Given the description of an element on the screen output the (x, y) to click on. 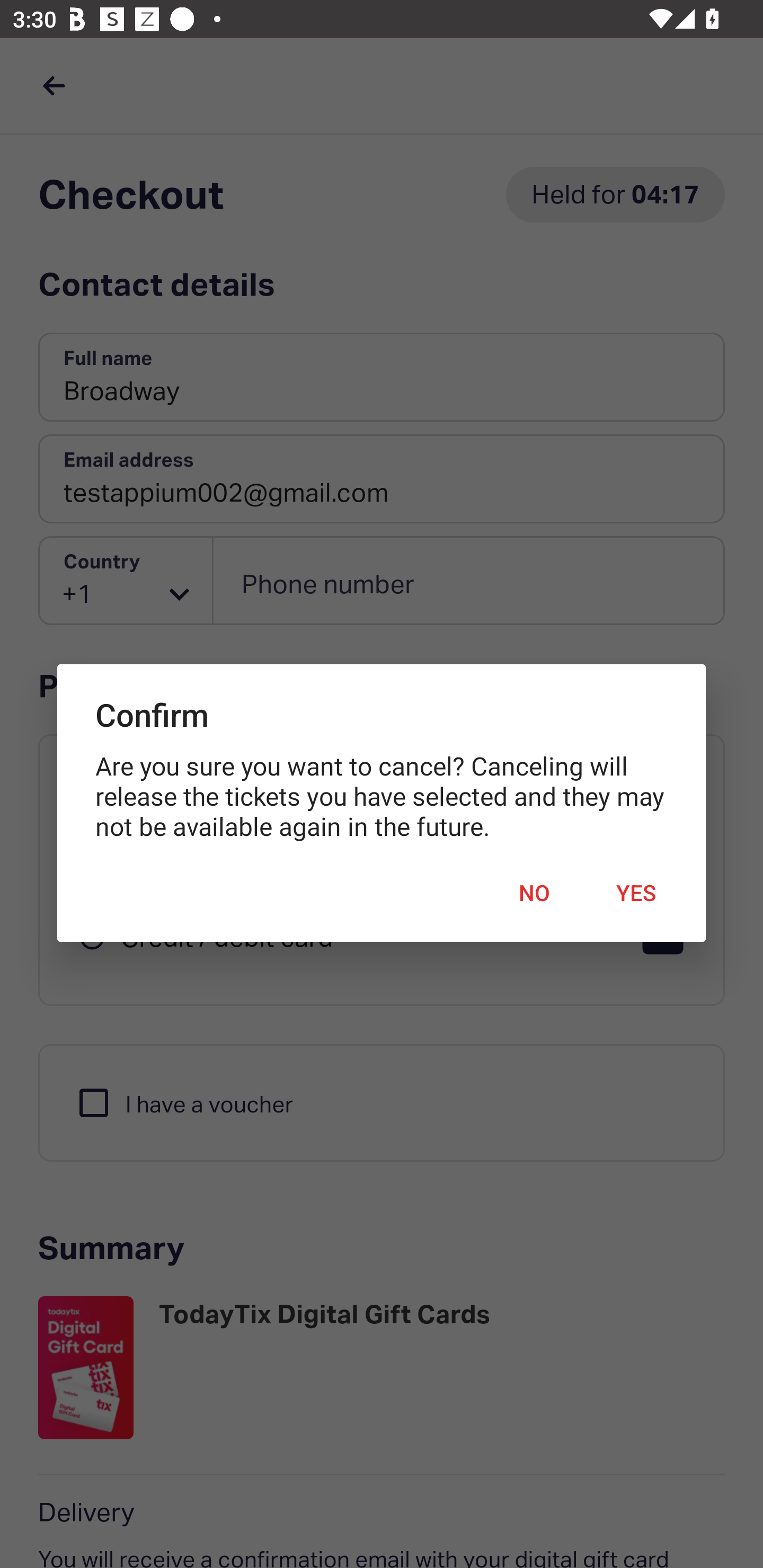
NO (533, 892)
YES (635, 892)
